Given the description of an element on the screen output the (x, y) to click on. 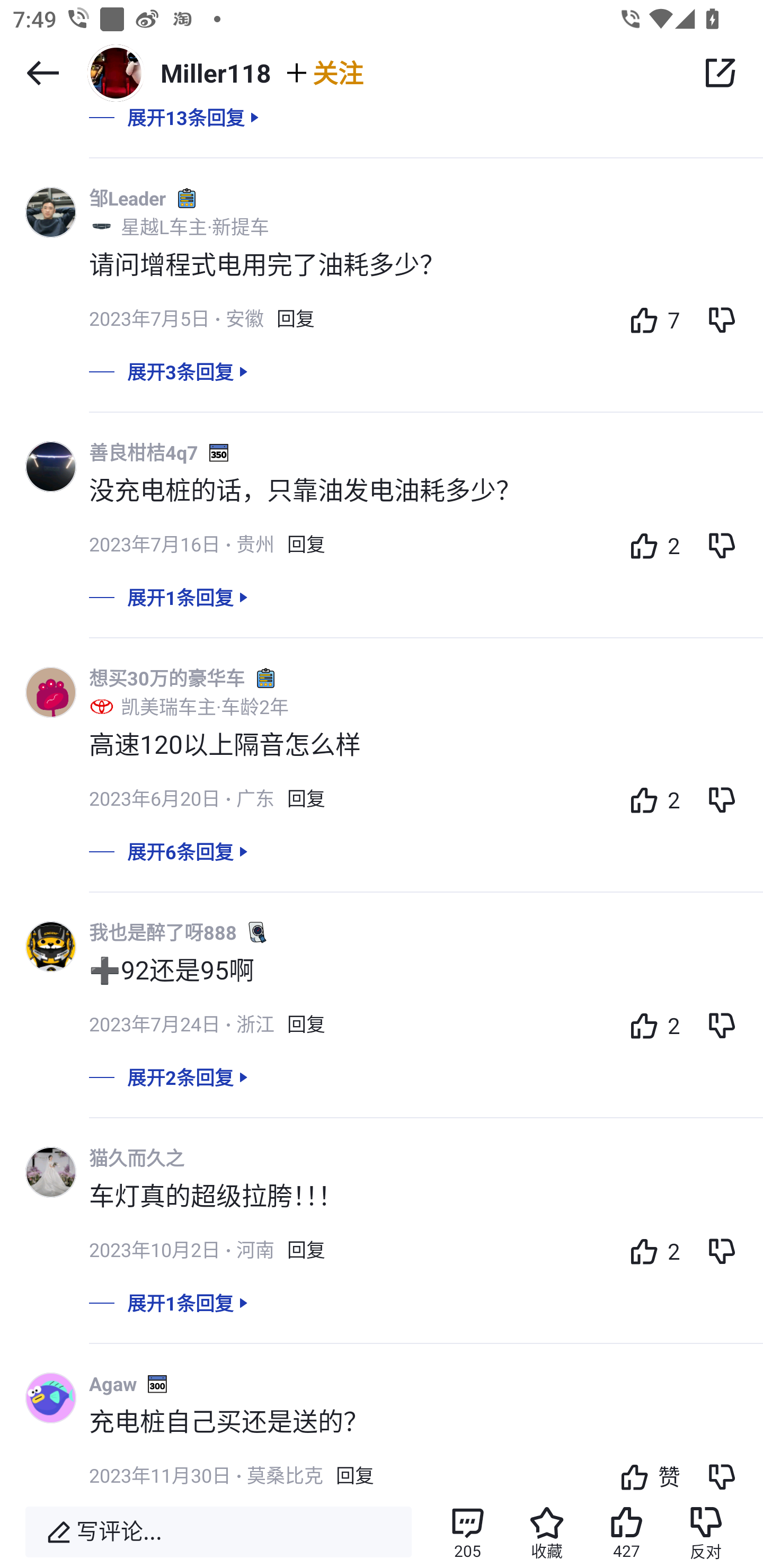
 (42, 72)
 (720, 72)
 关注 (323, 71)
展开13条回复  (381, 129)
邹Leader (127, 197)
7 (649, 319)
展开3条回复  (381, 383)
善良柑桔4q7 没充电桩的话，只靠油发电油耗多少？ 2023年7月16日 < >贵州 回复 2 (426, 510)
善良柑桔4q7 (143, 452)
2 (649, 544)
展开1条回复  (381, 609)
想买30万的豪华车 (166, 678)
2 (649, 799)
展开6条回复  (381, 864)
我也是醉了呀888 ➕92还是95啊 2023年7月24日 < >浙江 回复 2 (426, 990)
我也是醉了呀888 (162, 932)
2 (649, 1025)
展开2条回复  (381, 1089)
猫久而久之 车灯真的超级拉胯！！！ 2023年10月2日 < >河南 回复 2 (426, 1215)
猫久而久之 (136, 1157)
2 (649, 1250)
展开1条回复  (381, 1315)
Agaw 充电桩自己买还是送的？ 2023年11月30日 < >莫桑比克 回复 赞 (426, 1431)
Agaw (112, 1383)
赞 (645, 1472)
 205 (467, 1531)
收藏 (546, 1531)
427 (625, 1531)
反对 (705, 1531)
 写评论... (218, 1531)
